Given the description of an element on the screen output the (x, y) to click on. 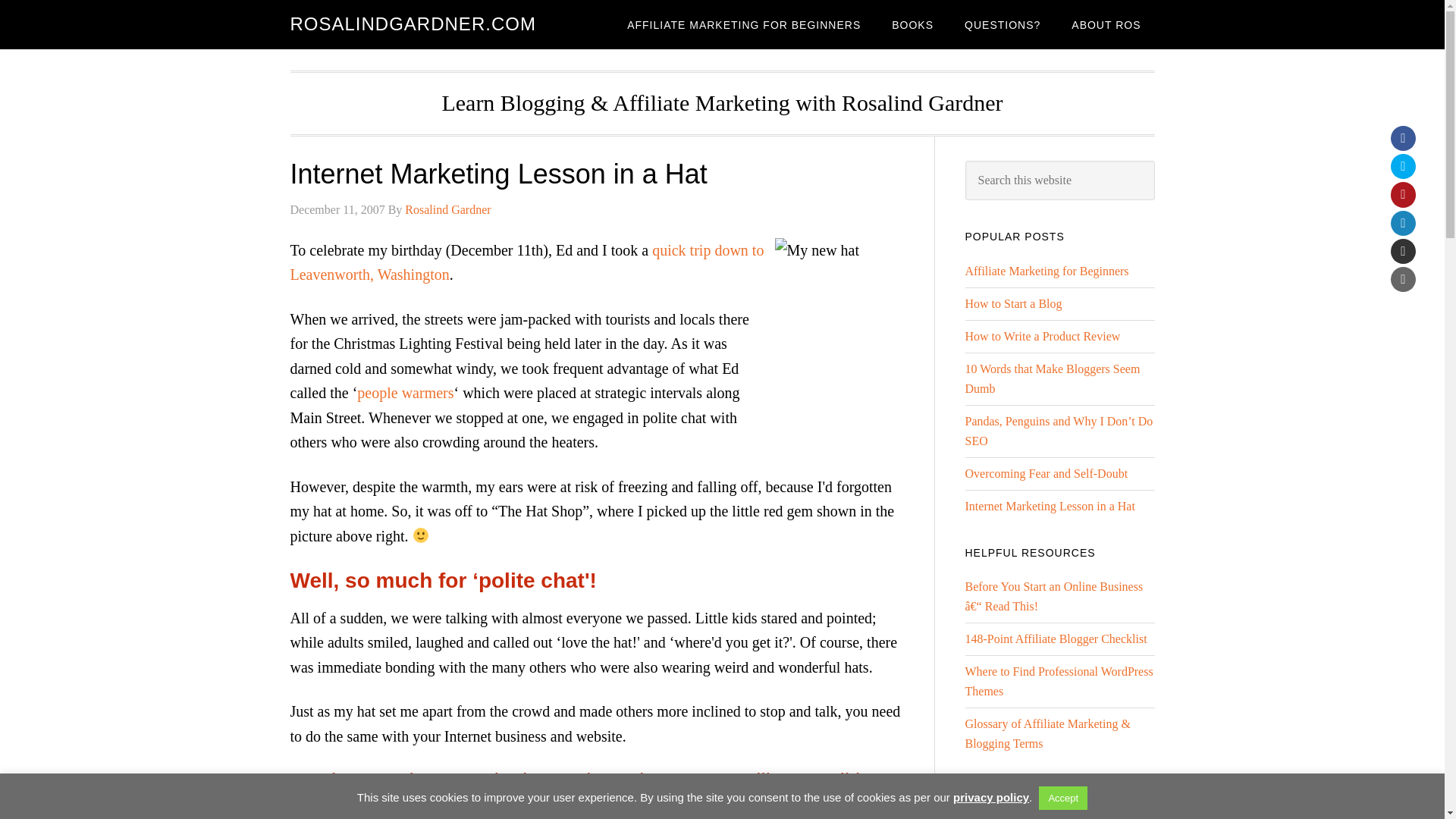
quick trip down to Leavenworth, Washington (525, 262)
10 Words that Make Bloggers Seem Dumb (1051, 378)
people warmers (404, 392)
How to Start a Blog (1012, 303)
Where to Find Professional WordPress Themes (1058, 681)
148-Point Affiliate Blogger Checklist (1055, 638)
Affiliate Marketing for Beginners (1045, 270)
ABOUT ROS (1106, 24)
How to Write a Product Review (1041, 336)
ROSALINDGARDNER.COM (412, 23)
AFFILIATE MARKETING FOR BEGINNERS (743, 24)
QUESTIONS? (1002, 24)
Rosalind Gardner (447, 209)
